Given the description of an element on the screen output the (x, y) to click on. 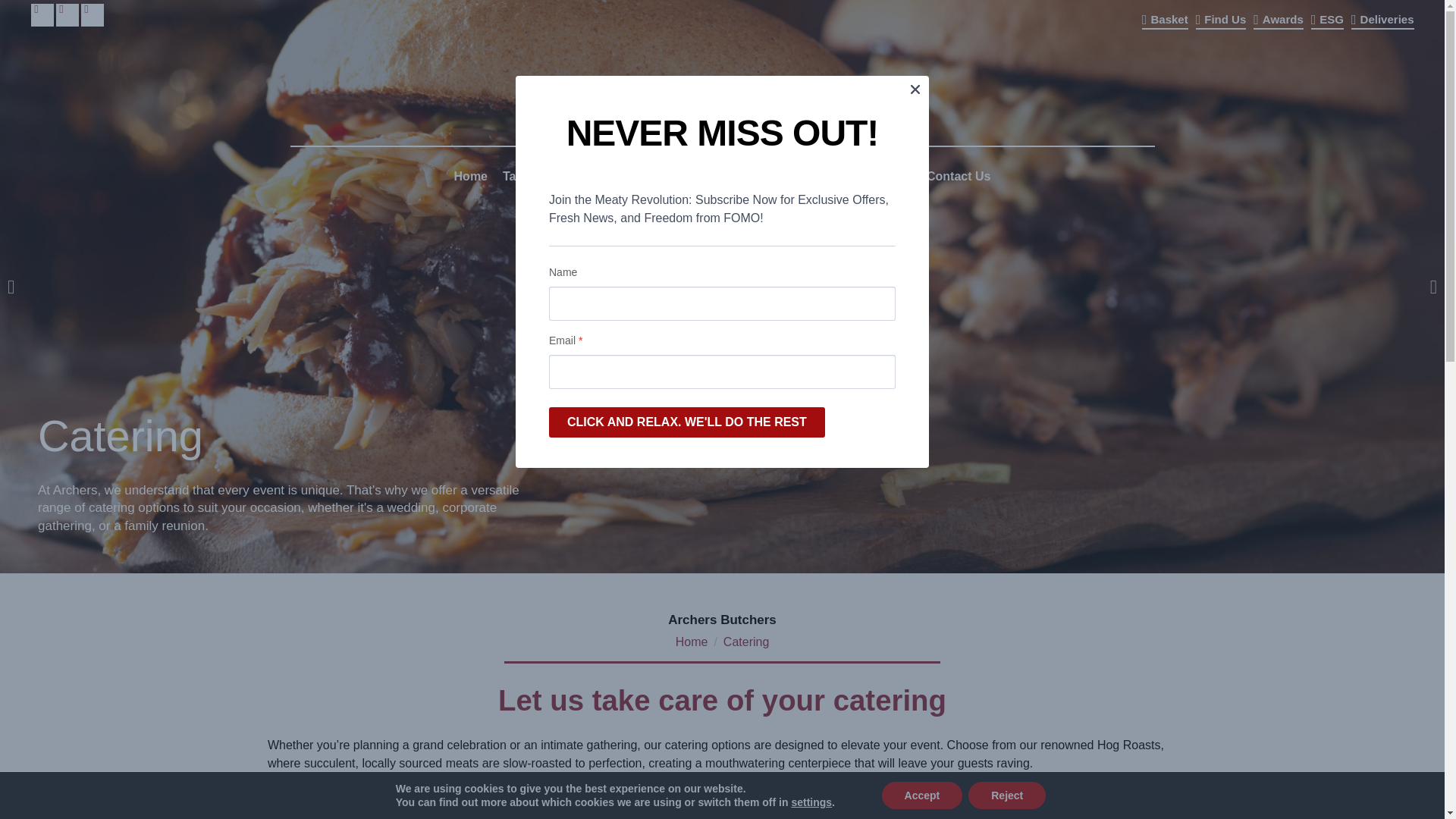
Find Us (1220, 16)
Deliveries (1382, 16)
News (747, 176)
About us (689, 176)
Provenance (812, 176)
Catering (886, 176)
Basket (1164, 16)
Order Online (611, 176)
Contact Us (957, 176)
Takeaway (530, 176)
Home (470, 176)
ESG (1327, 16)
Awards (1278, 16)
